Given the description of an element on the screen output the (x, y) to click on. 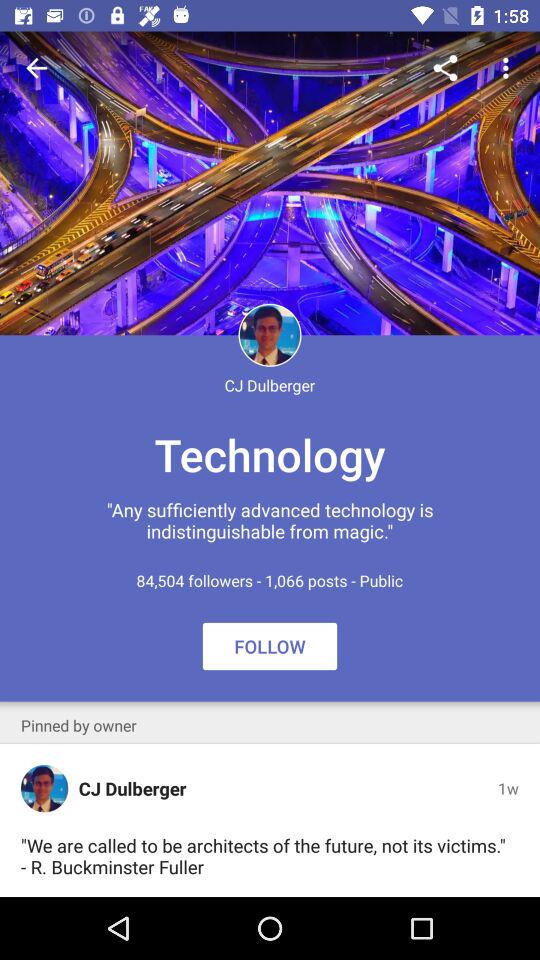
turn off item below 84 504 followers icon (269, 646)
